Given the description of an element on the screen output the (x, y) to click on. 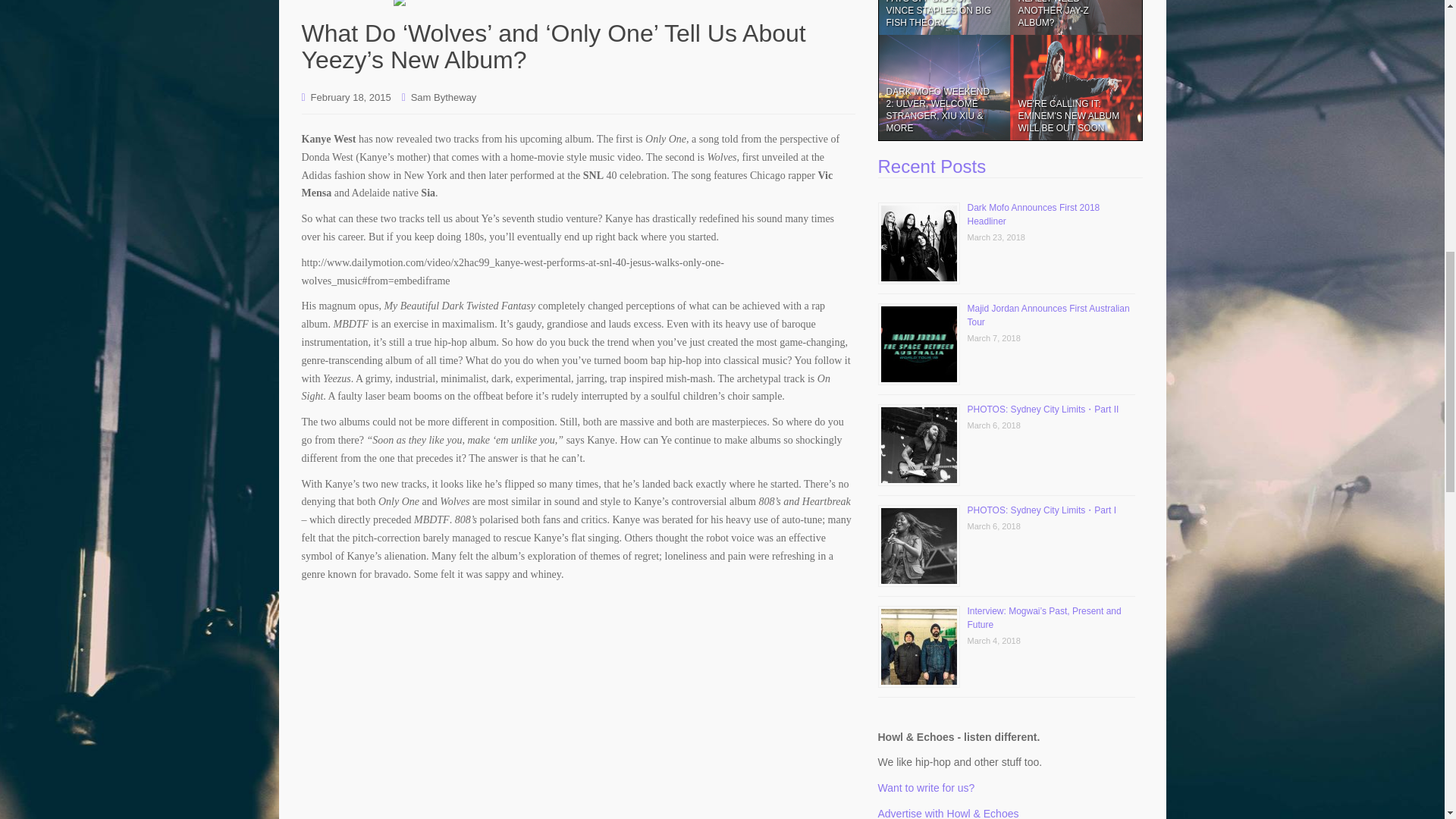
February 18, 2015 (351, 97)
Sam Bytheway (443, 97)
